Given the description of an element on the screen output the (x, y) to click on. 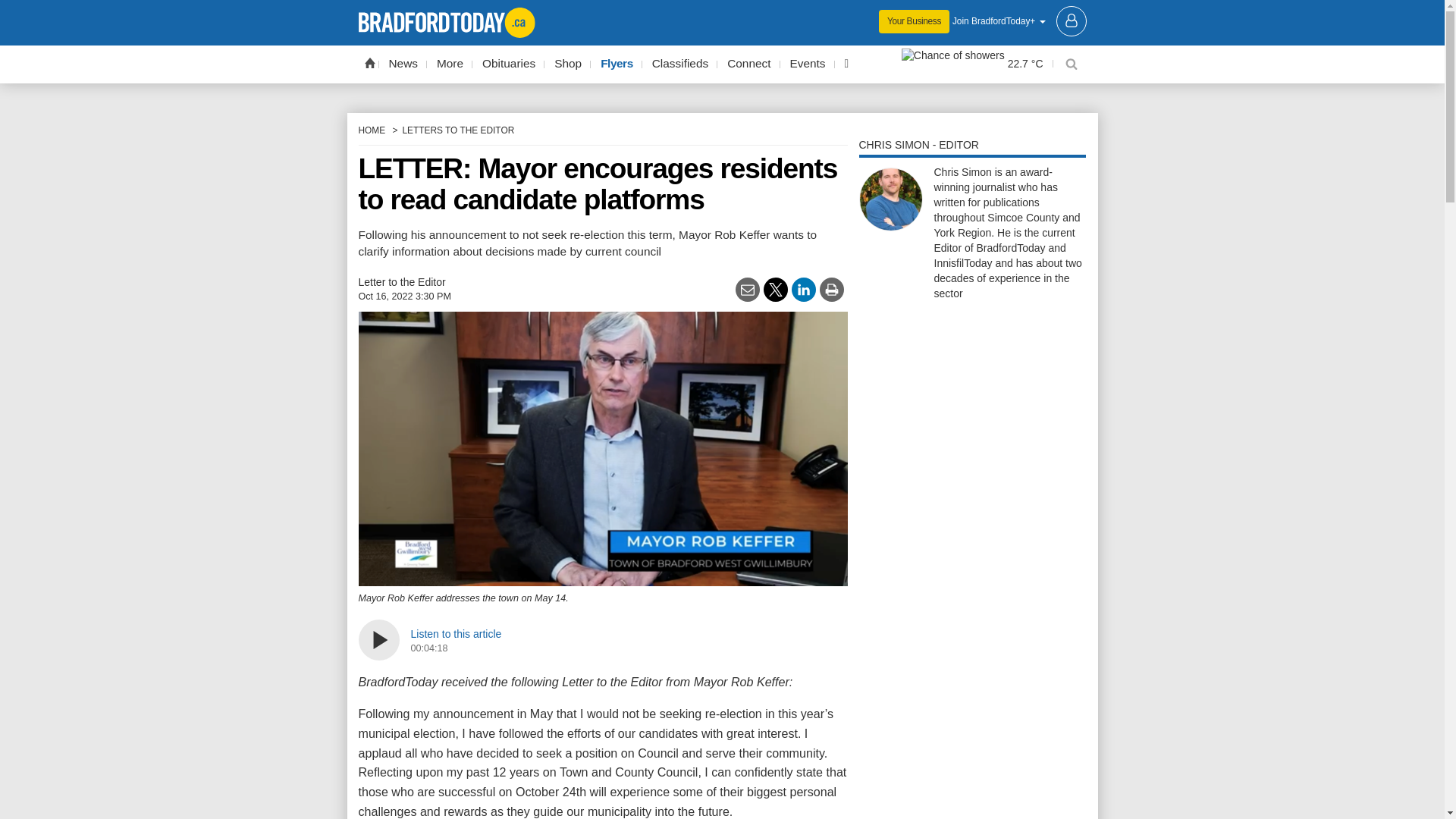
Home (368, 62)
Your Business (914, 21)
News (403, 64)
